Given the description of an element on the screen output the (x, y) to click on. 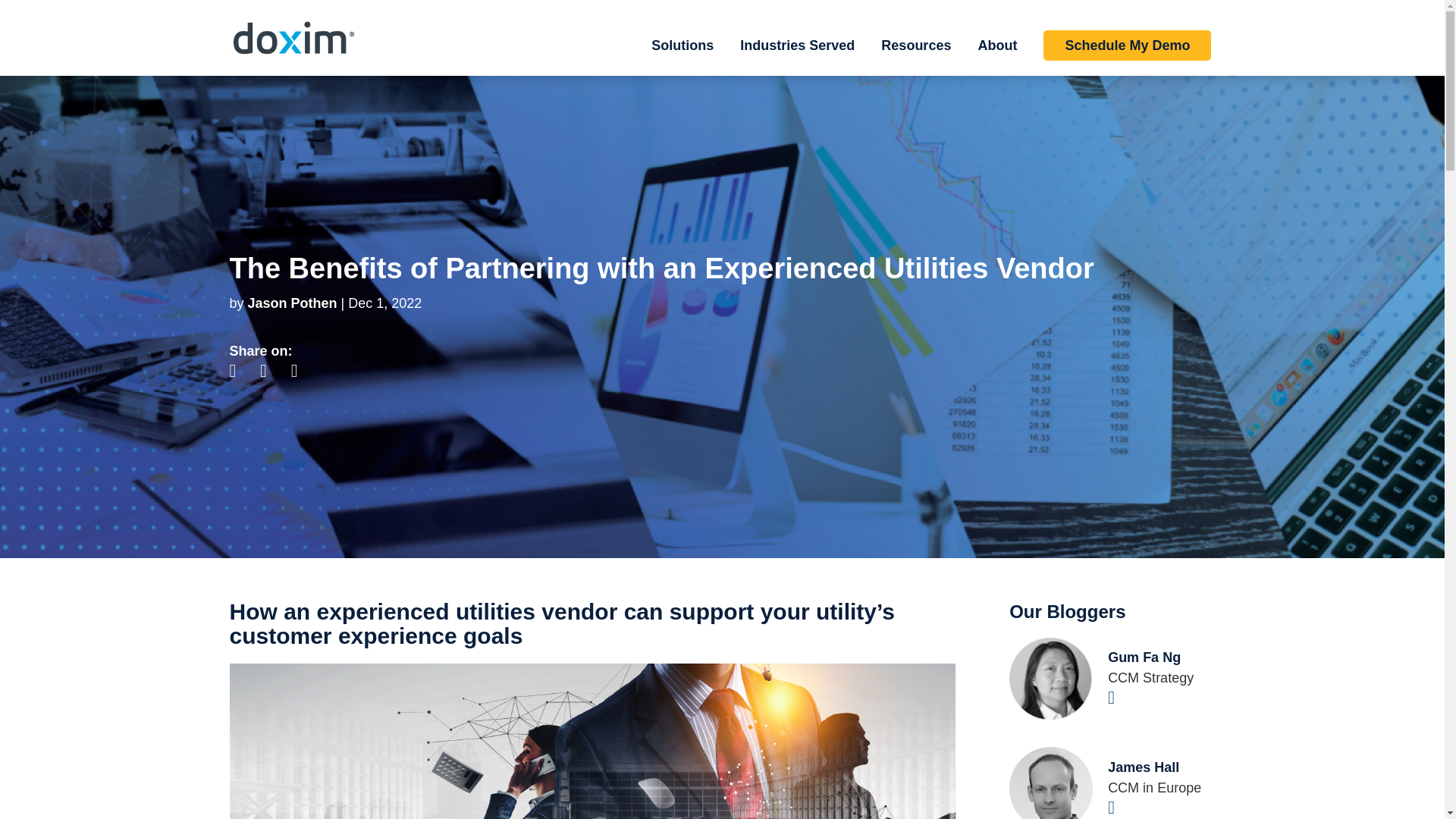
Posts by Jason Pothen (292, 303)
Industries Served (796, 58)
Solutions (681, 58)
Resources (915, 58)
About (996, 58)
